Given the description of an element on the screen output the (x, y) to click on. 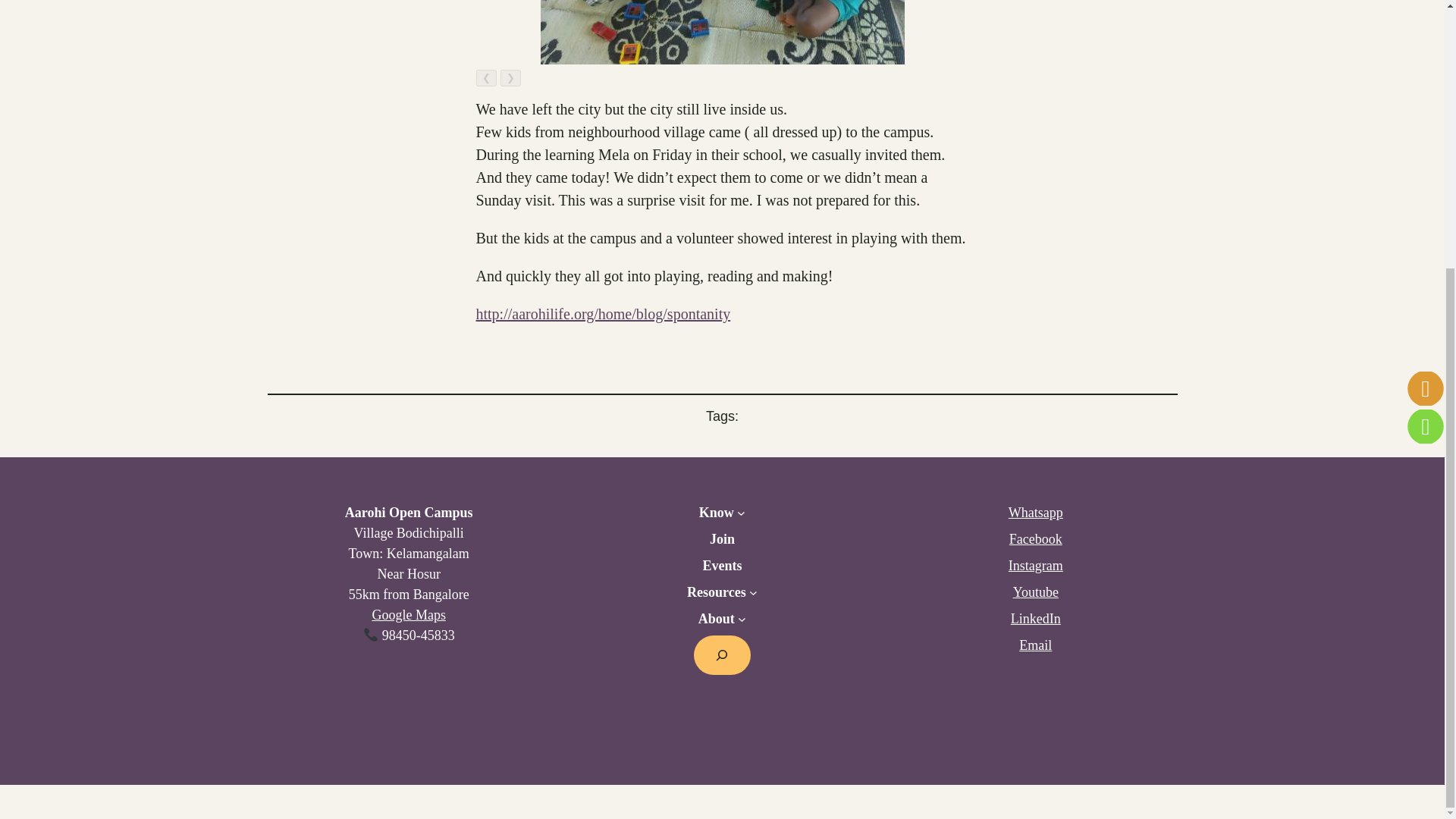
Resources (716, 592)
Know (715, 512)
Google Maps (408, 614)
Join (722, 539)
Events (721, 566)
